Given the description of an element on the screen output the (x, y) to click on. 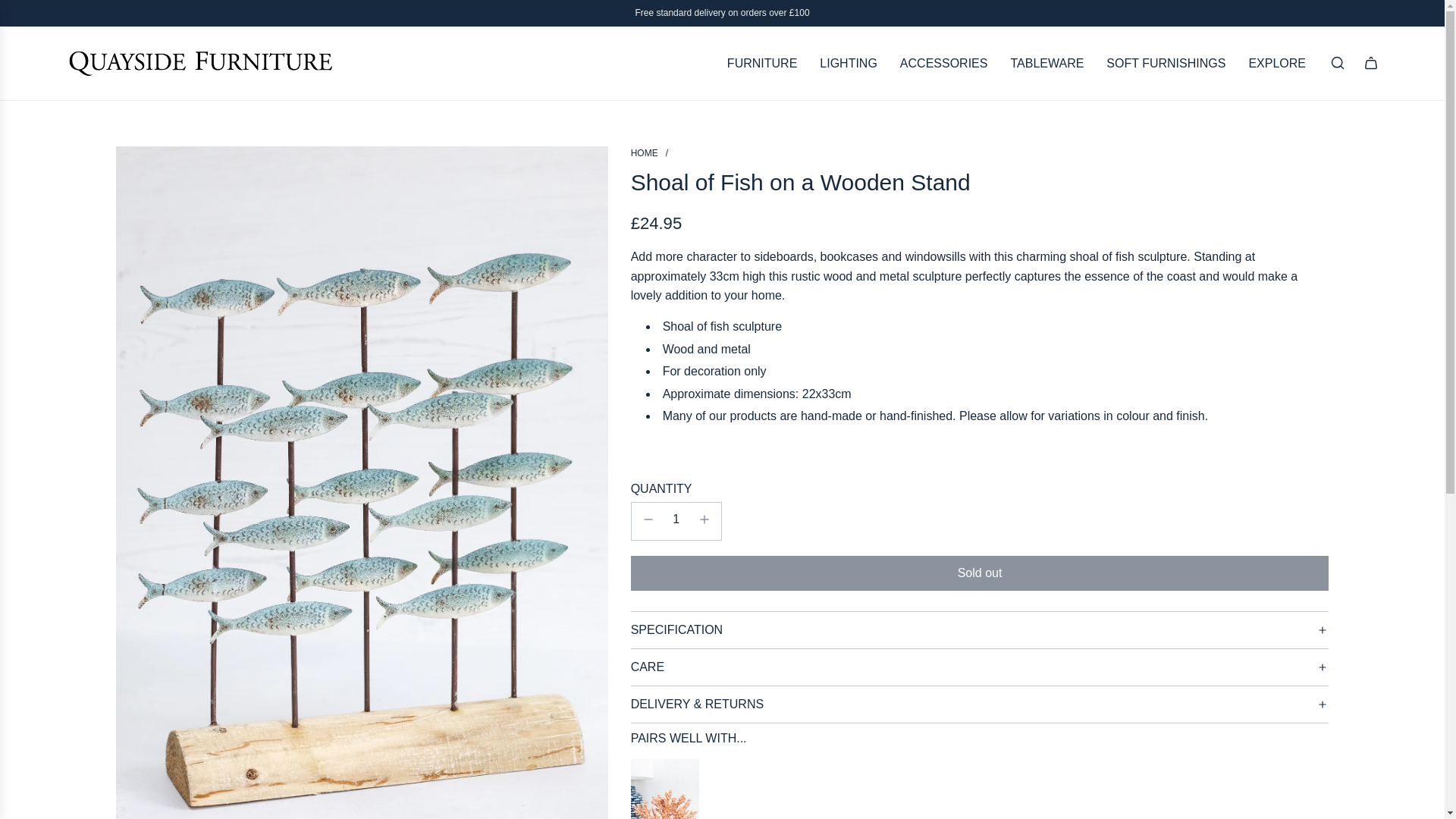
Back to the frontpage (644, 153)
